Given the description of an element on the screen output the (x, y) to click on. 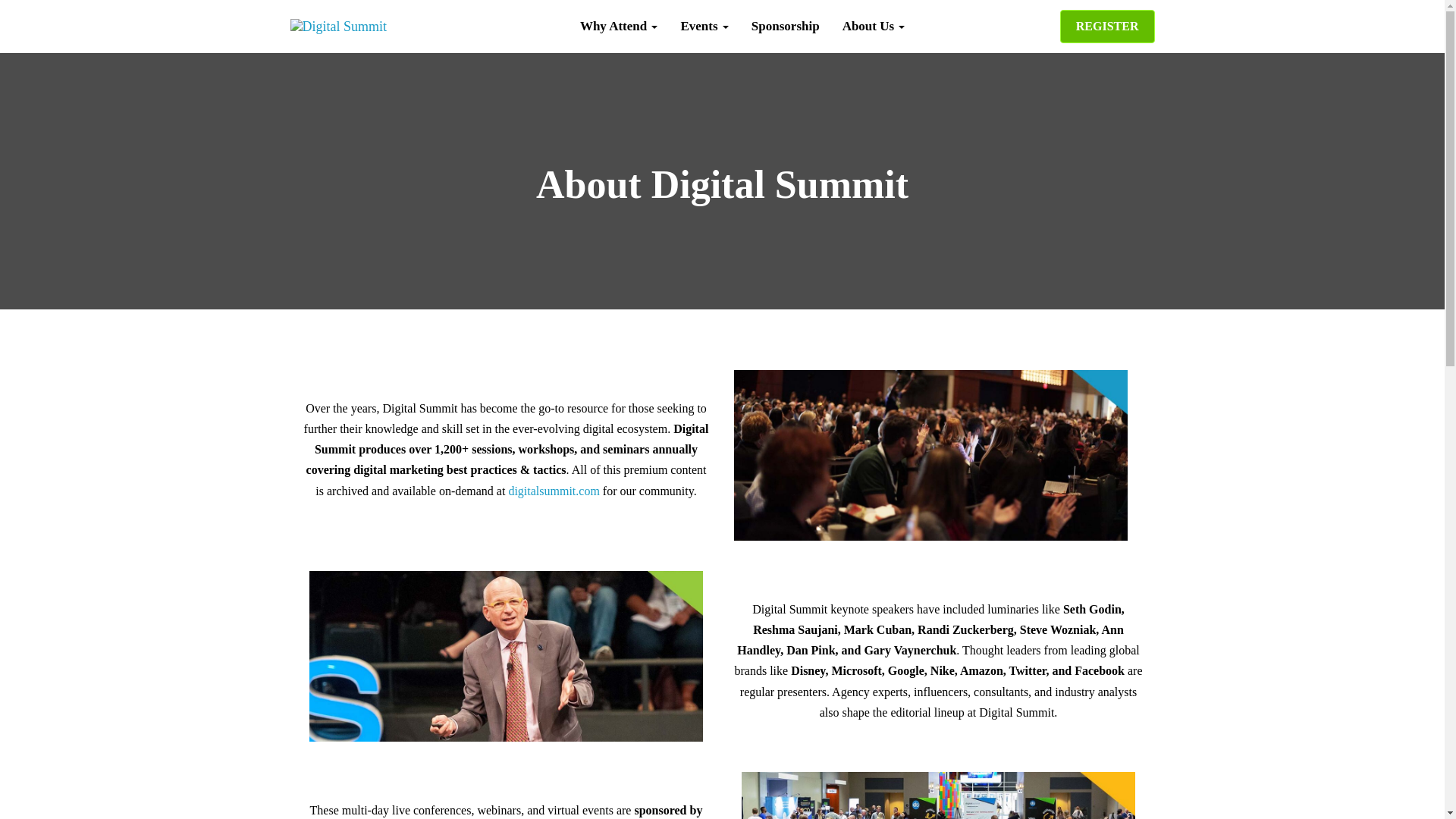
About Us (874, 26)
Why Attend (619, 26)
REGISTER (1106, 26)
Sponsorship (785, 26)
Events (703, 26)
